Given the description of an element on the screen output the (x, y) to click on. 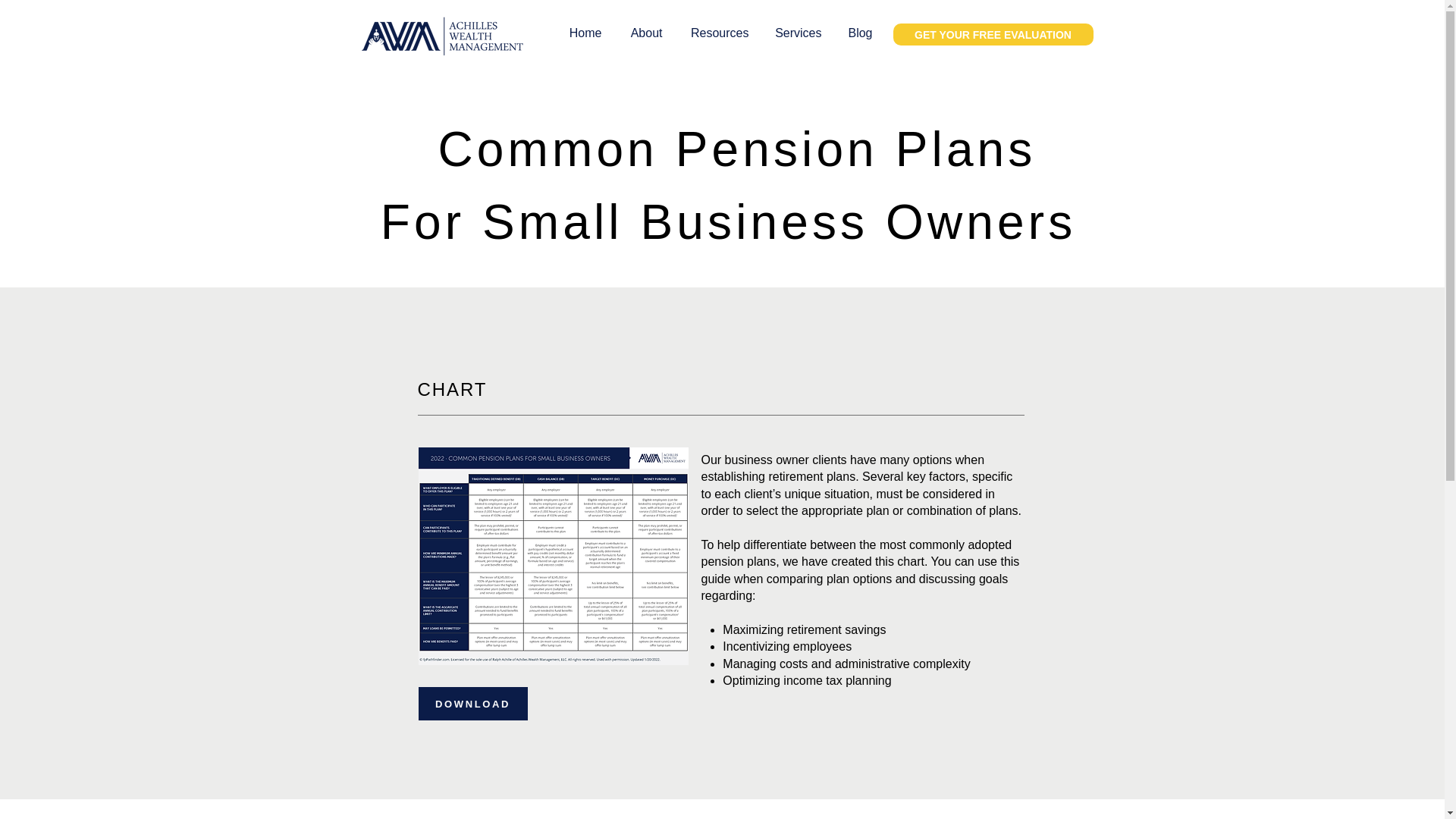
About (642, 33)
GET YOUR FREE EVALUATION (993, 34)
Home (581, 33)
DOWNLOAD (473, 703)
Resources (716, 33)
Blog (857, 33)
Services (796, 33)
